Given the description of an element on the screen output the (x, y) to click on. 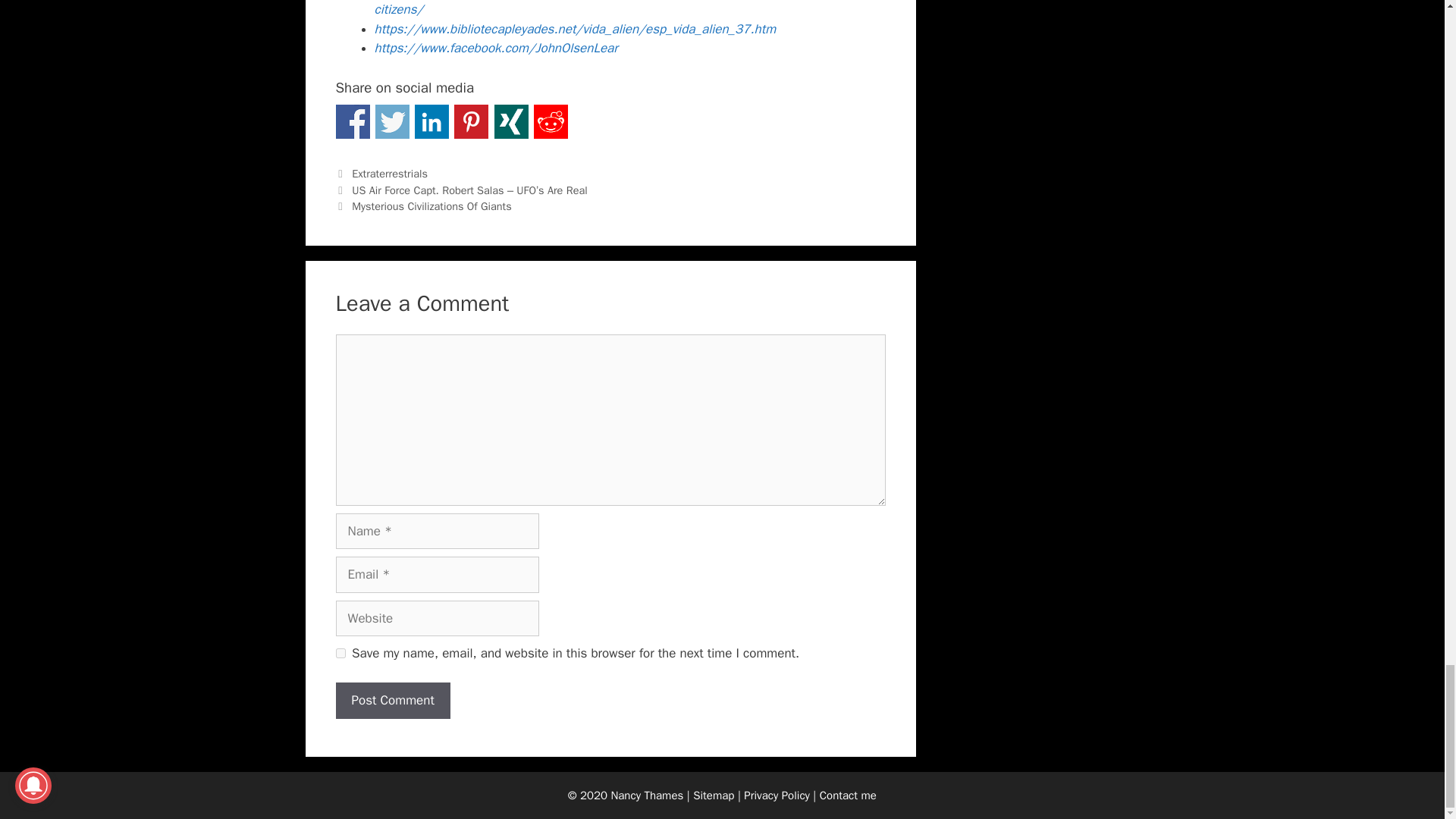
Share on Twitter (392, 121)
Share on Xing (511, 121)
Post Comment (391, 700)
Share on Linkedin (431, 121)
Share on Facebook (351, 121)
Share on Pinterest (470, 121)
Extraterrestrials (390, 173)
yes (339, 653)
Share on Reddit (550, 121)
